Given the description of an element on the screen output the (x, y) to click on. 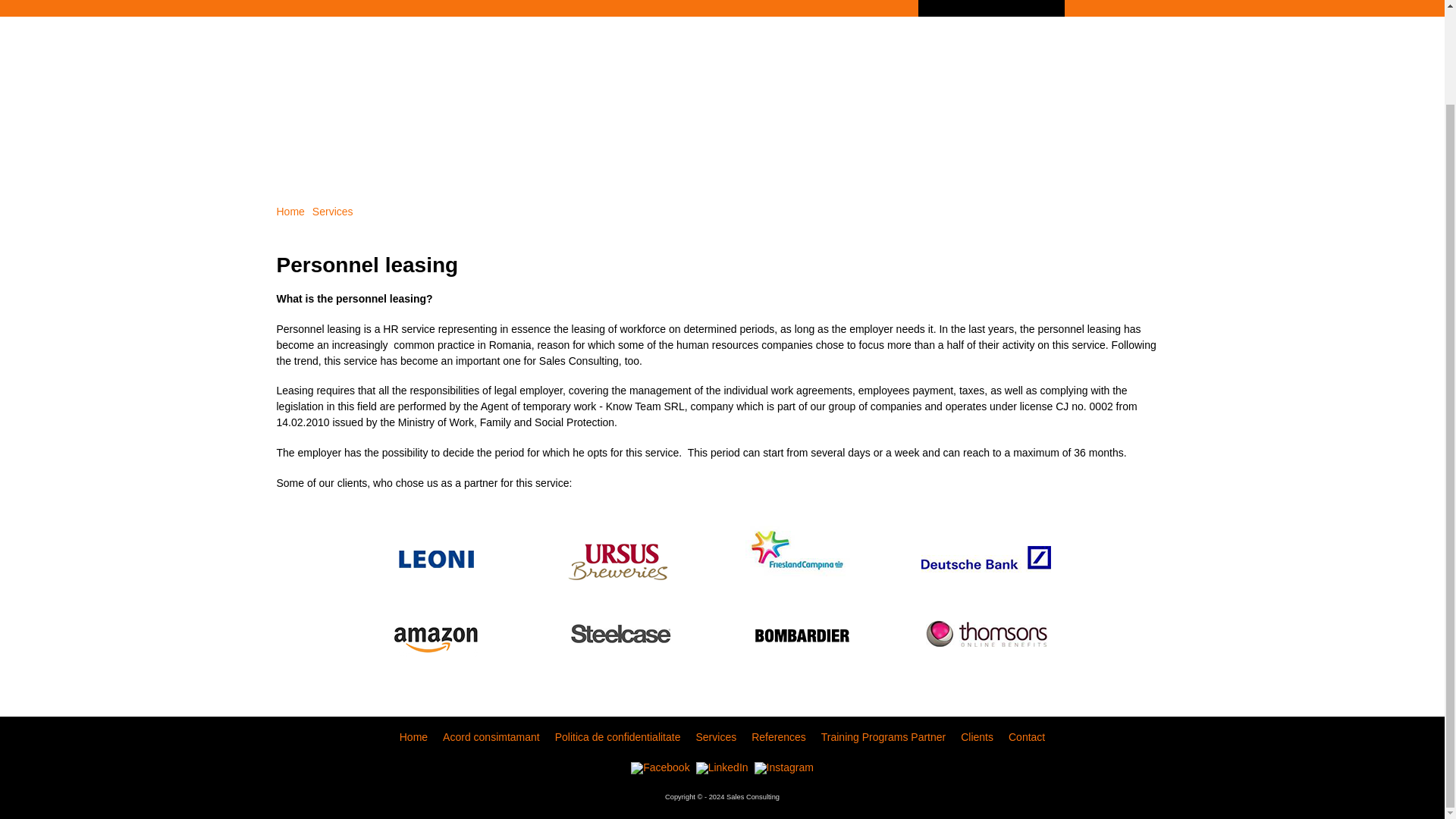
Acord consimtamant (491, 736)
Services (333, 211)
PERSONNEL LEASING (991, 8)
Home (290, 211)
Politica de confidentialitate (617, 736)
Clients (976, 736)
JOB OFFERS (415, 8)
CLIENTS (1102, 8)
References (778, 736)
RECRUITMENT AND SELECTION (563, 8)
